Given the description of an element on the screen output the (x, y) to click on. 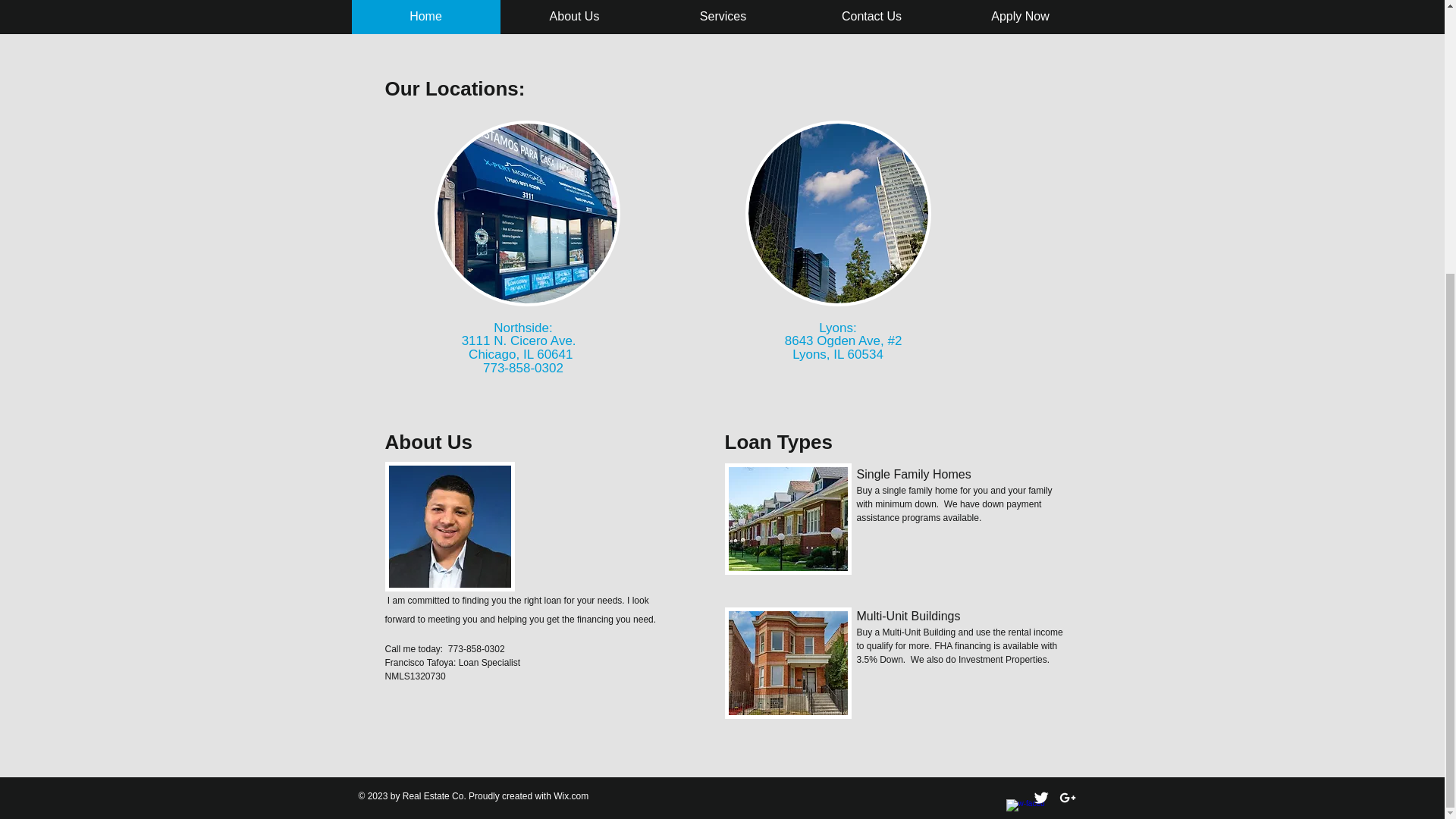
About Us (574, 17)
Contact Us (871, 17)
Apply Now (1020, 17)
Services (723, 17)
Wix.com (570, 796)
Home (426, 17)
